Given the description of an element on the screen output the (x, y) to click on. 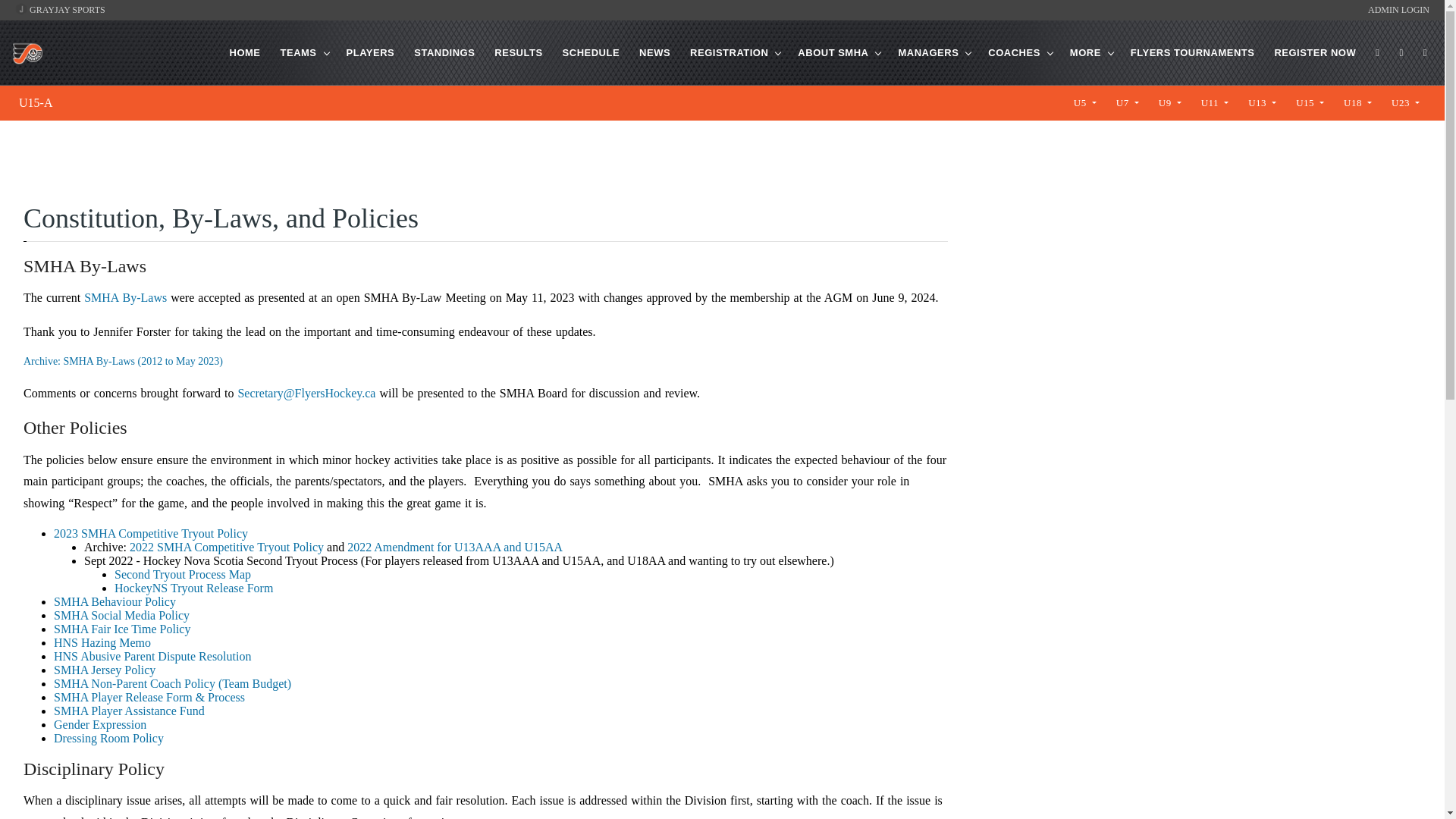
NEWS (655, 52)
REGISTRATION (729, 52)
TEAMS (299, 52)
GRAYJAY SPORTS (59, 9)
SCHEDULE (591, 52)
RESULTS (517, 52)
ADMIN LOGIN (1398, 9)
SMHA Jersey Policy (104, 669)
HOME (245, 52)
STANDINGS (443, 52)
PLAYERS (370, 52)
